Given the description of an element on the screen output the (x, y) to click on. 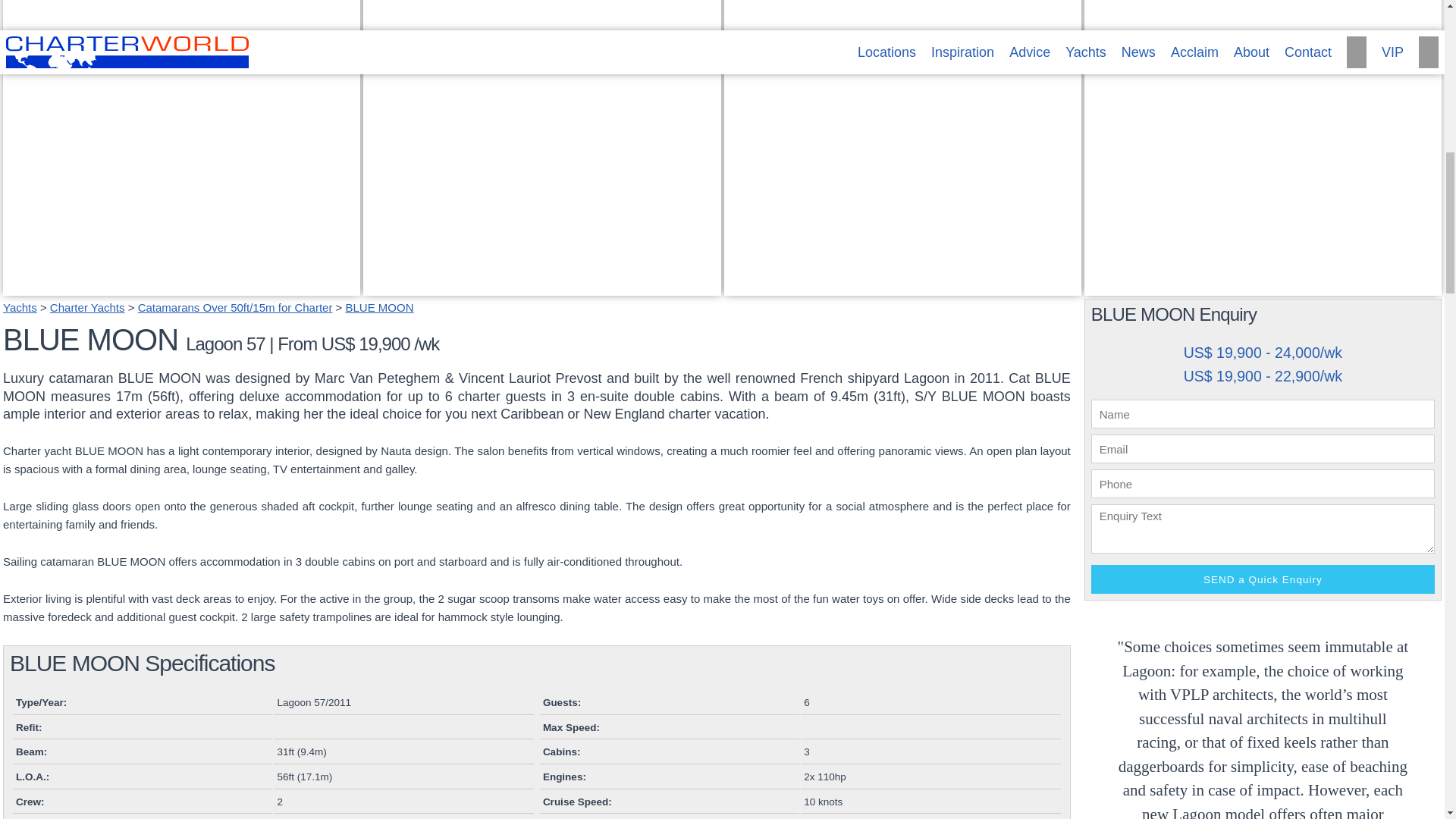
Now is the time to book your Christmas ... (901, 286)
Yachts (19, 307)
FREEDOM (1123, 268)
Anguilla (391, 268)
BLUE MOON (379, 307)
FREEDOM (1262, 286)
Catamaran BLUE MOON -  Main (180, 286)
Charter Yachts (180, 286)
Anguilla (87, 307)
